Given the description of an element on the screen output the (x, y) to click on. 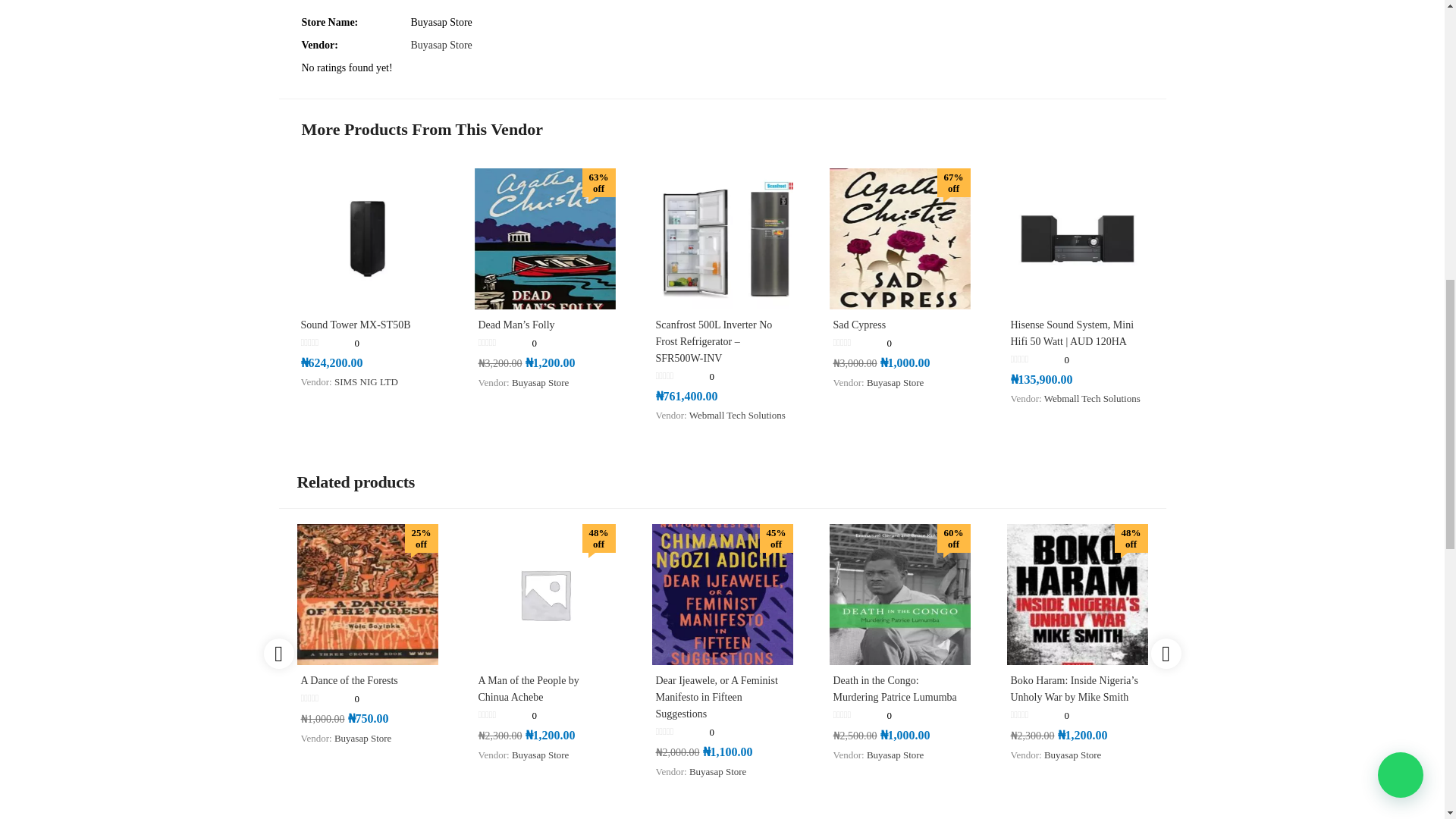
Sound Tower MX-ST50B (367, 238)
